Given the description of an element on the screen output the (x, y) to click on. 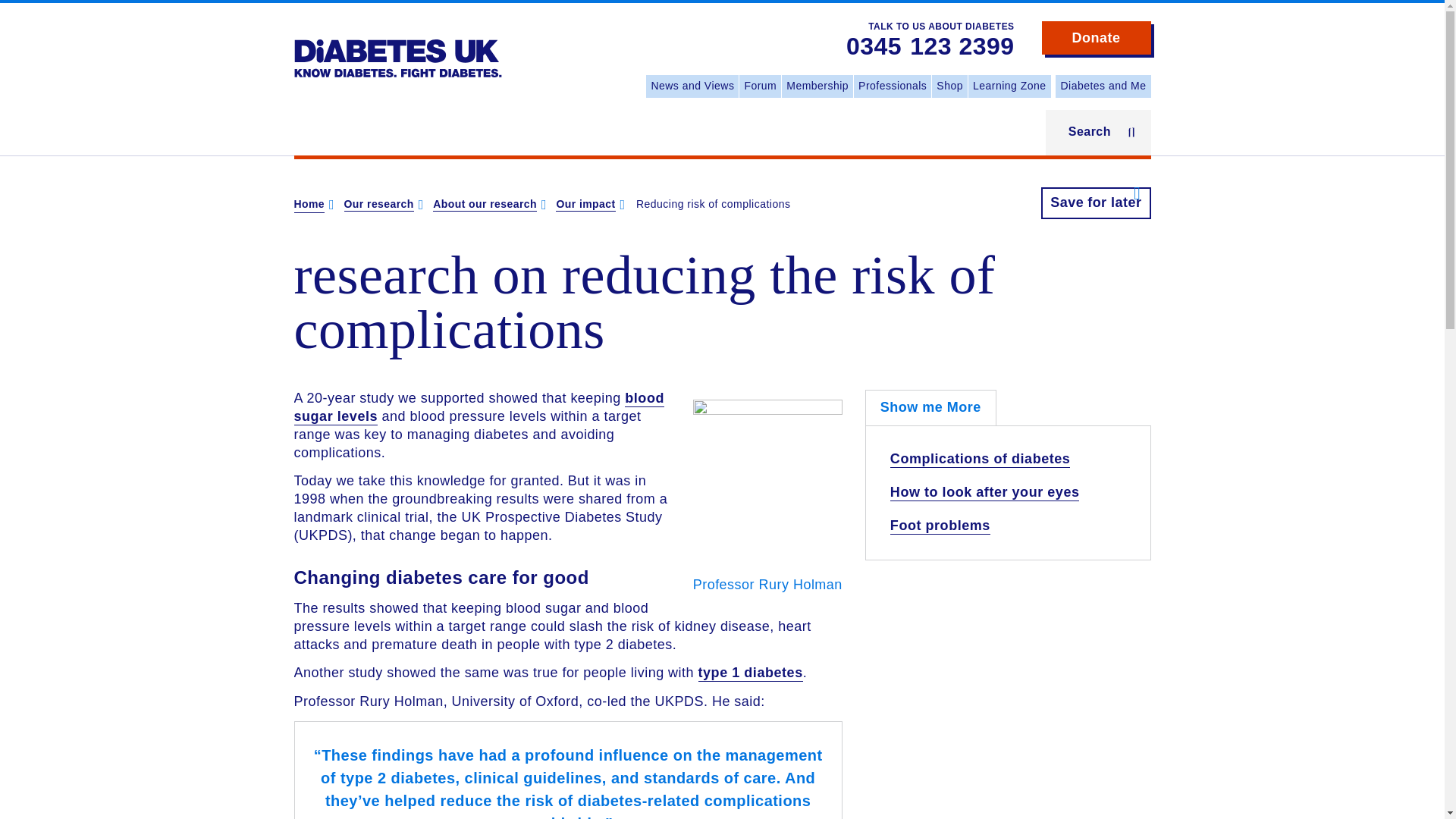
Learning Zone (1009, 86)
Search Diabetes UK (15, 21)
Our impact (585, 204)
Home (309, 204)
blood sugar levels (478, 407)
type 1 diabetes (750, 673)
Shop (949, 86)
News and Views (692, 86)
Membership (817, 86)
Home (398, 47)
Forum (759, 86)
Professionals (892, 86)
Donate (1096, 37)
Complications of diabetes (979, 459)
About our research (484, 204)
